Given the description of an element on the screen output the (x, y) to click on. 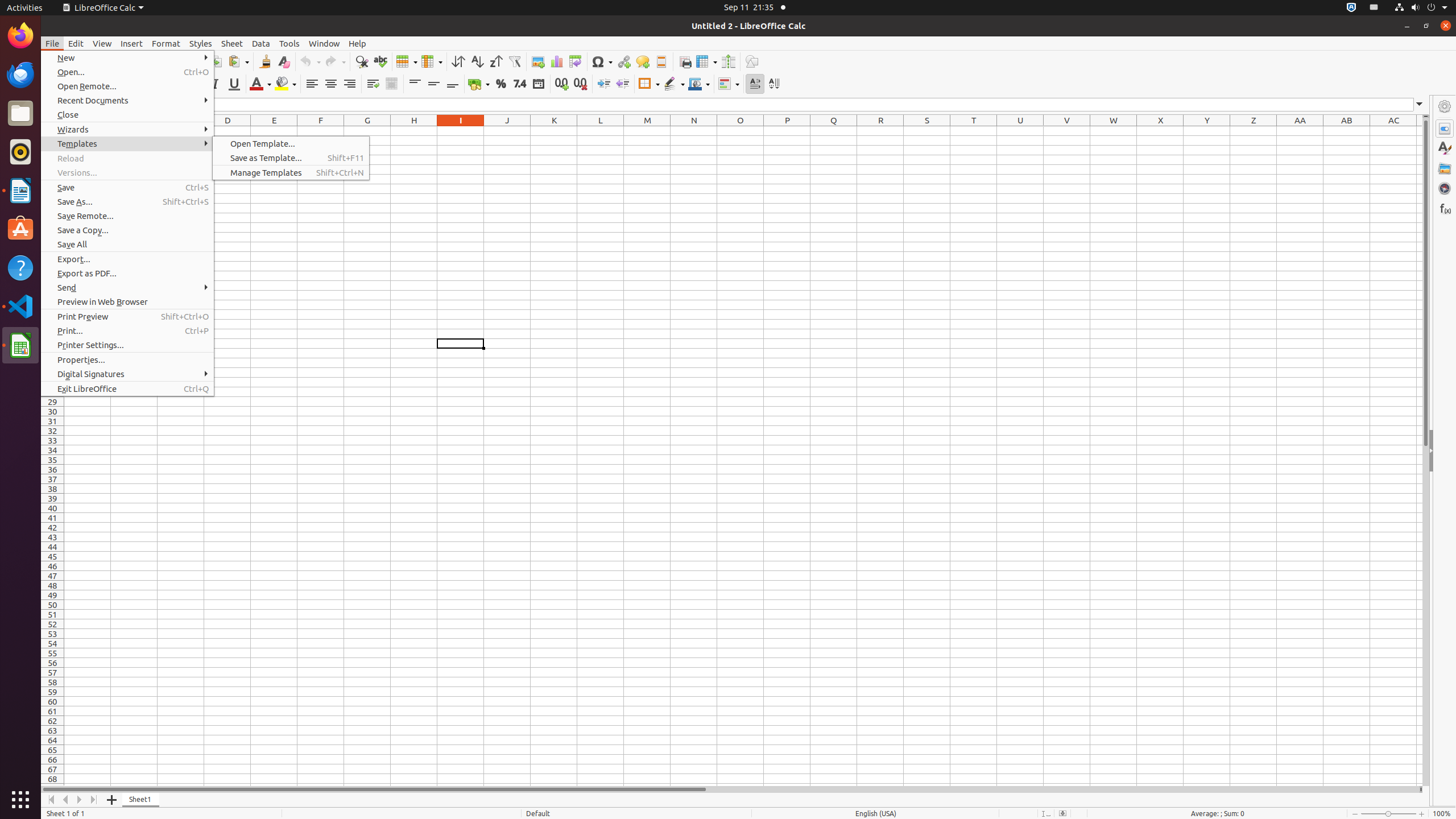
Clone Element type: push-button (264, 61)
Decrease Element type: push-button (622, 83)
N1 Element type: table-cell (693, 130)
Date Element type: push-button (537, 83)
Move Right Element type: push-button (79, 799)
